Given the description of an element on the screen output the (x, y) to click on. 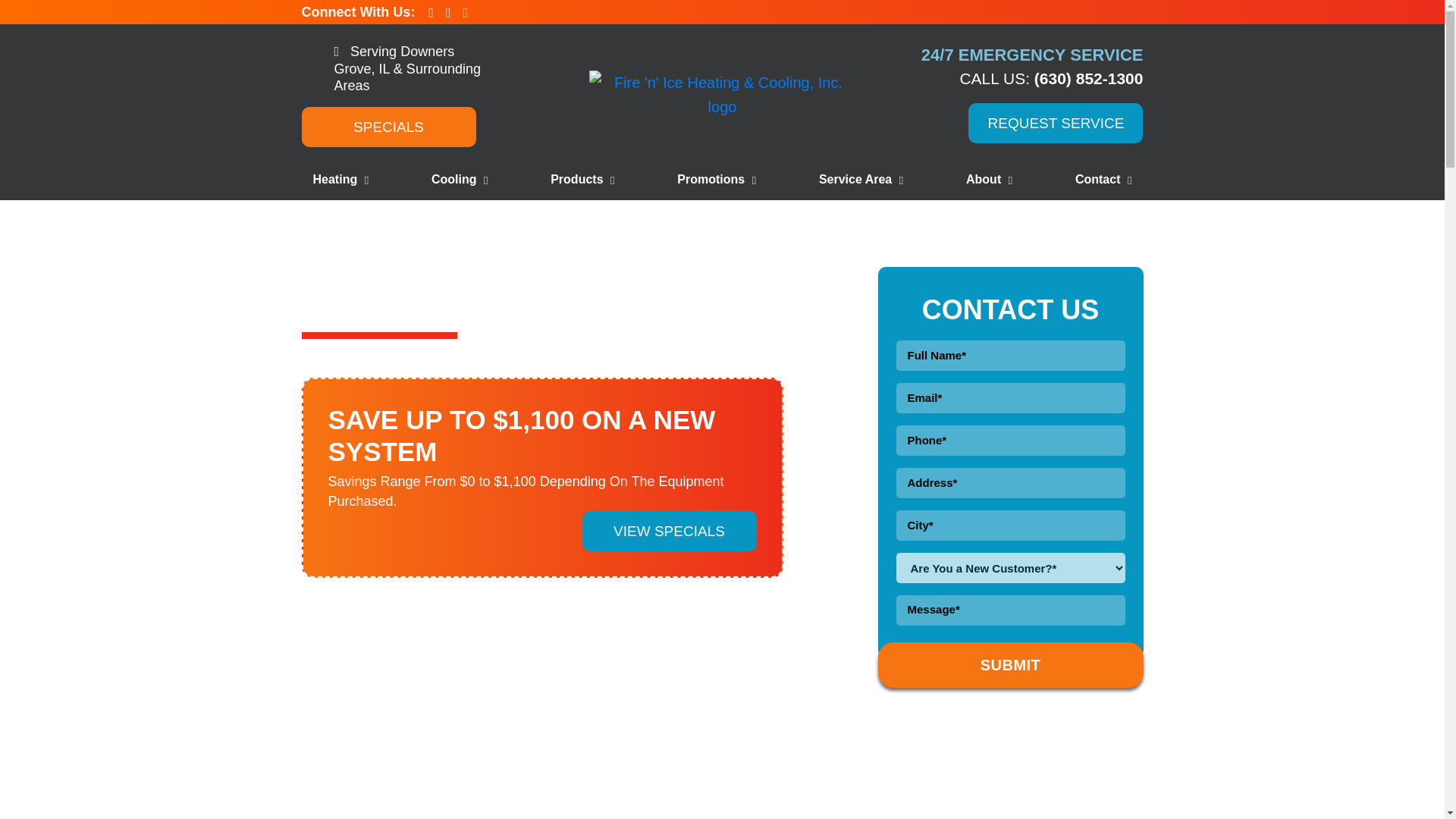
REQUEST SERVICE (1055, 123)
Products (582, 178)
Cooling (459, 178)
About (989, 178)
Promotions (716, 178)
Heating (340, 178)
Service Area (861, 178)
Contact (1103, 178)
Submit (1009, 664)
SPECIALS (388, 126)
